Given the description of an element on the screen output the (x, y) to click on. 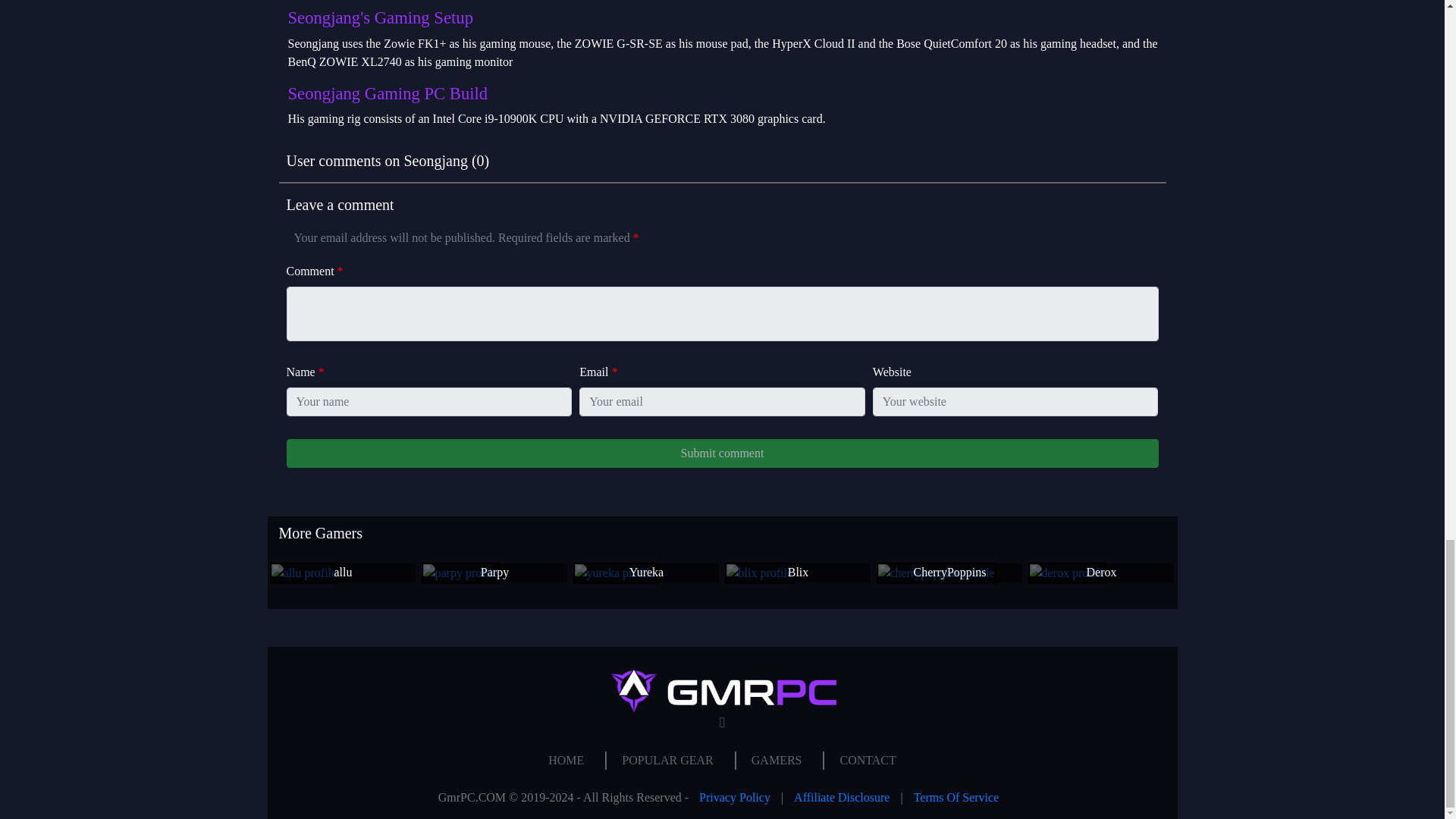
Submit comment (722, 452)
Top Gaming Gear (667, 759)
GmrPC.com Home (565, 759)
